Given the description of an element on the screen output the (x, y) to click on. 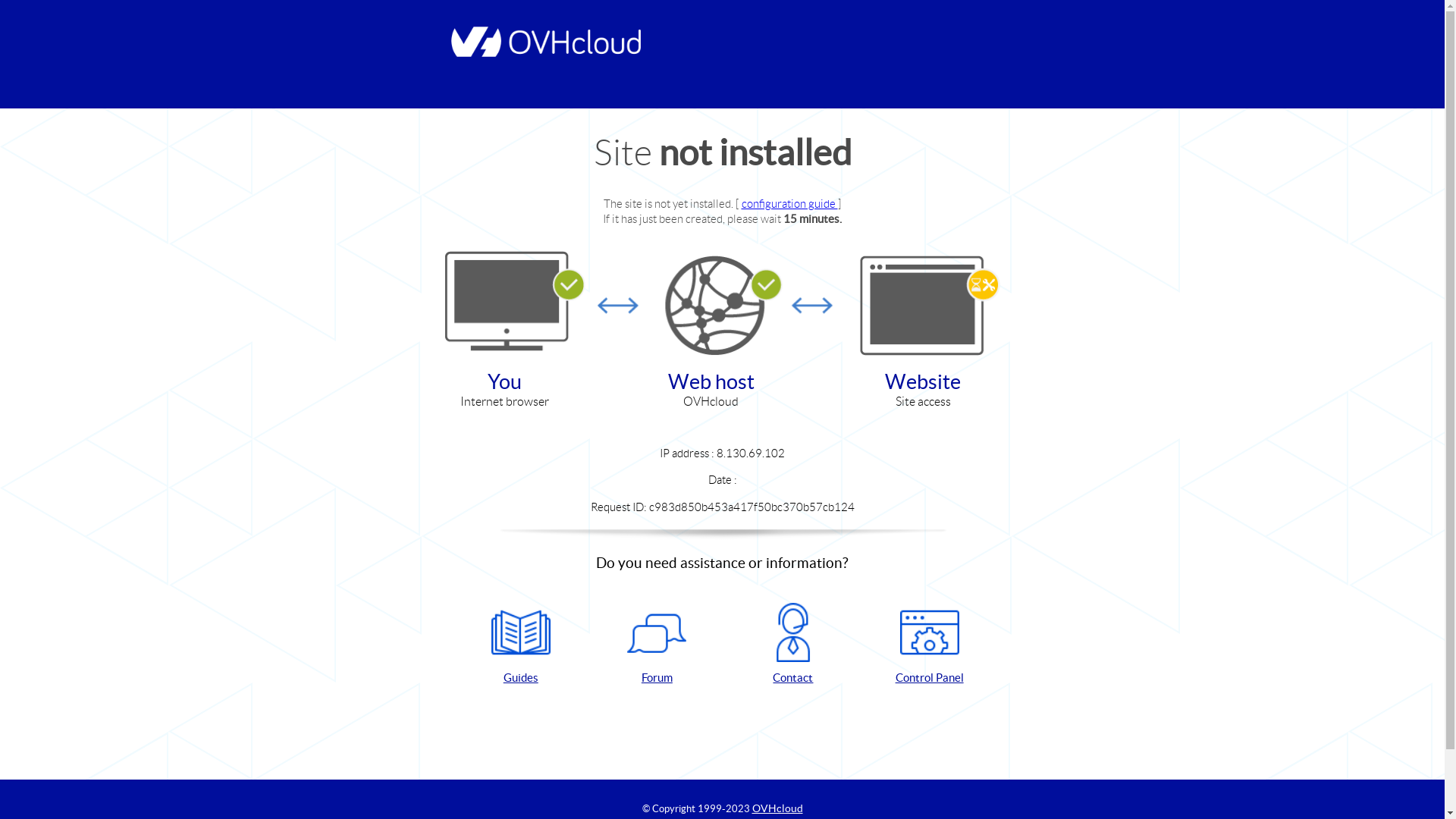
Control Panel Element type: text (929, 644)
Guides Element type: text (520, 644)
configuration guide Element type: text (789, 203)
Contact Element type: text (792, 644)
Forum Element type: text (656, 644)
OVHcloud Element type: text (777, 808)
